Given the description of an element on the screen output the (x, y) to click on. 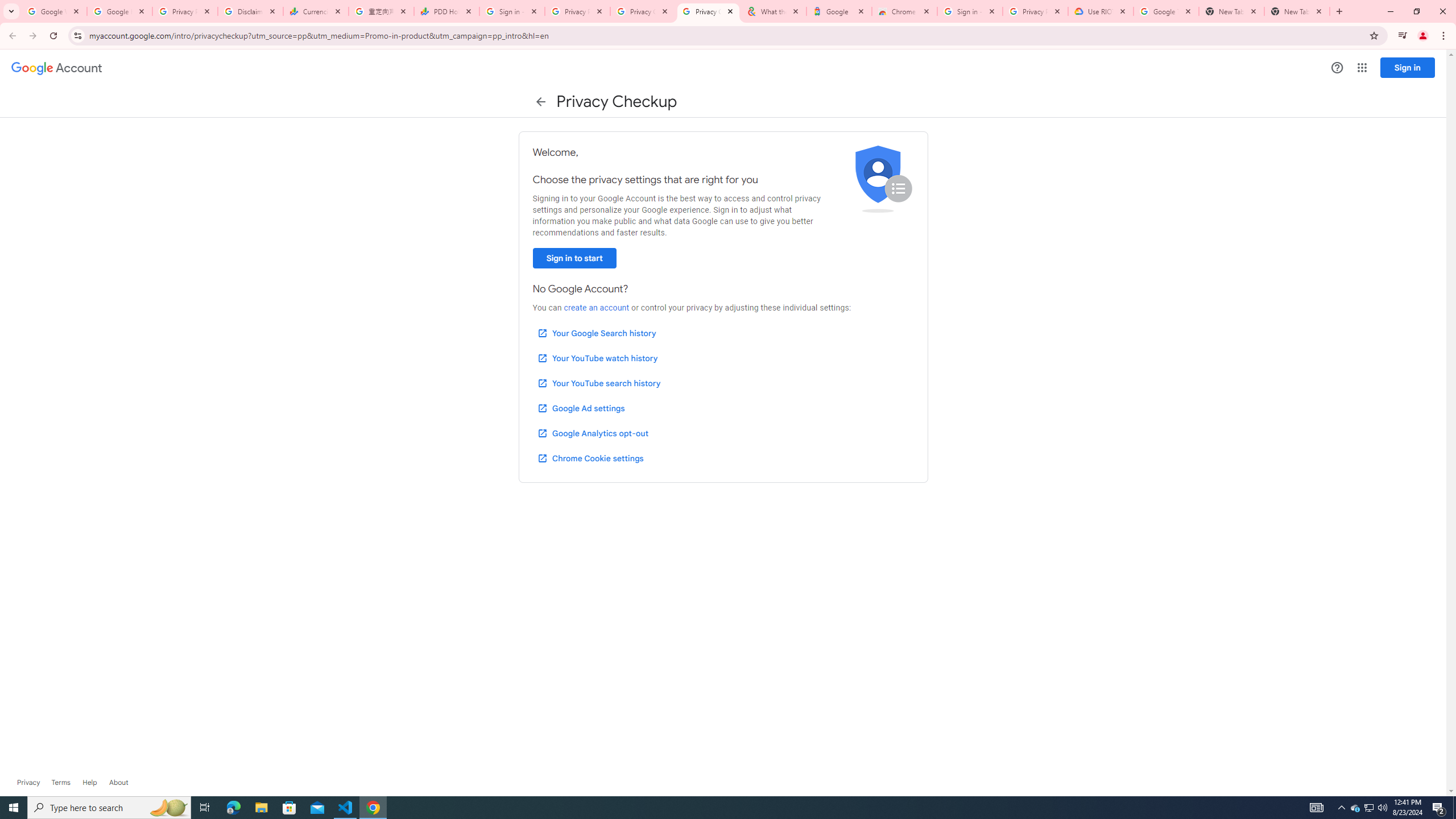
Google Account settings (56, 68)
Privacy Checkup (643, 11)
Your YouTube search history (598, 383)
New Tab (1297, 11)
Google (838, 11)
